Given the description of an element on the screen output the (x, y) to click on. 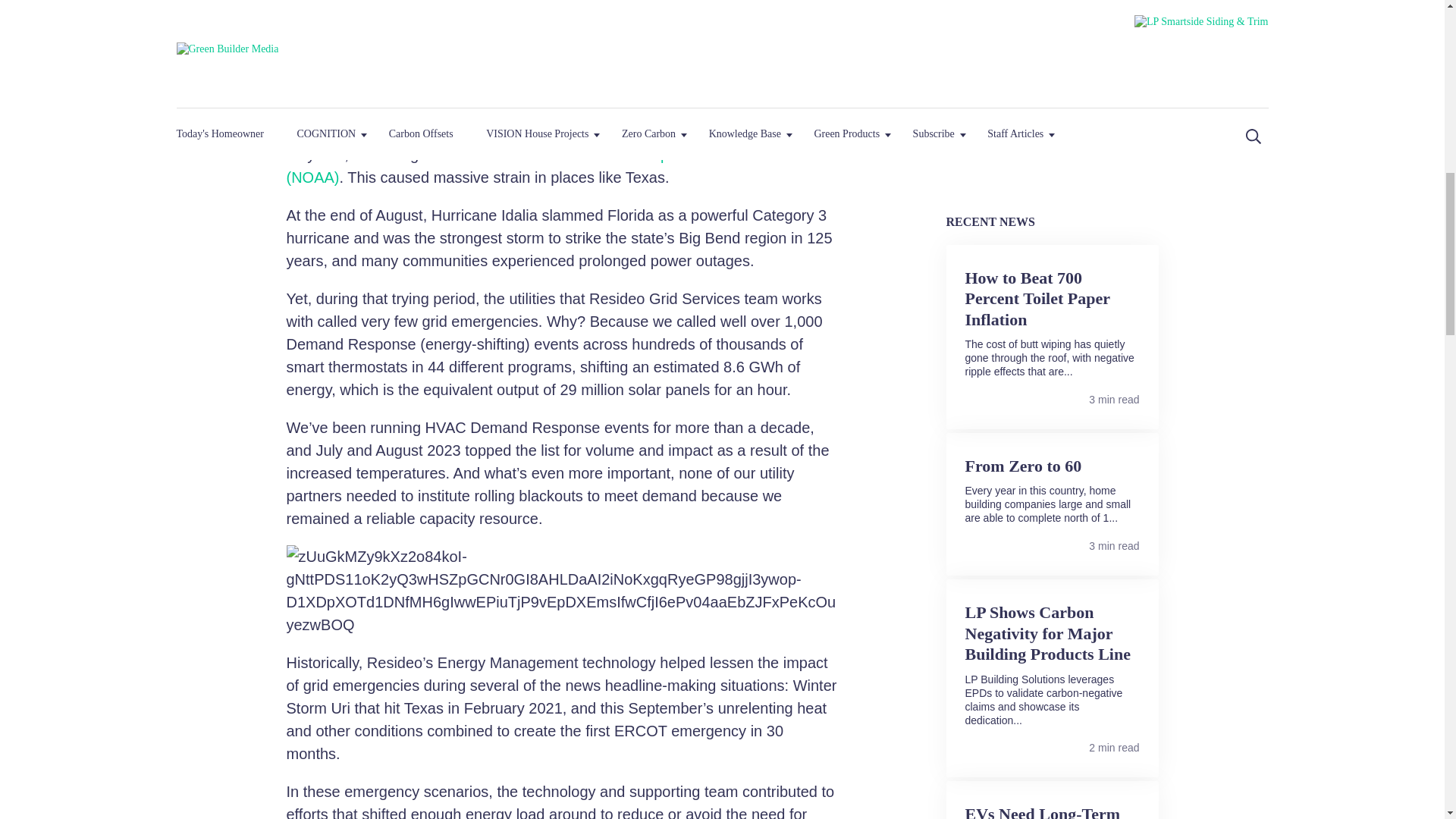
Reading time (1083, 398)
Reading time (1083, 544)
Reading time (1083, 746)
